Given the description of an element on the screen output the (x, y) to click on. 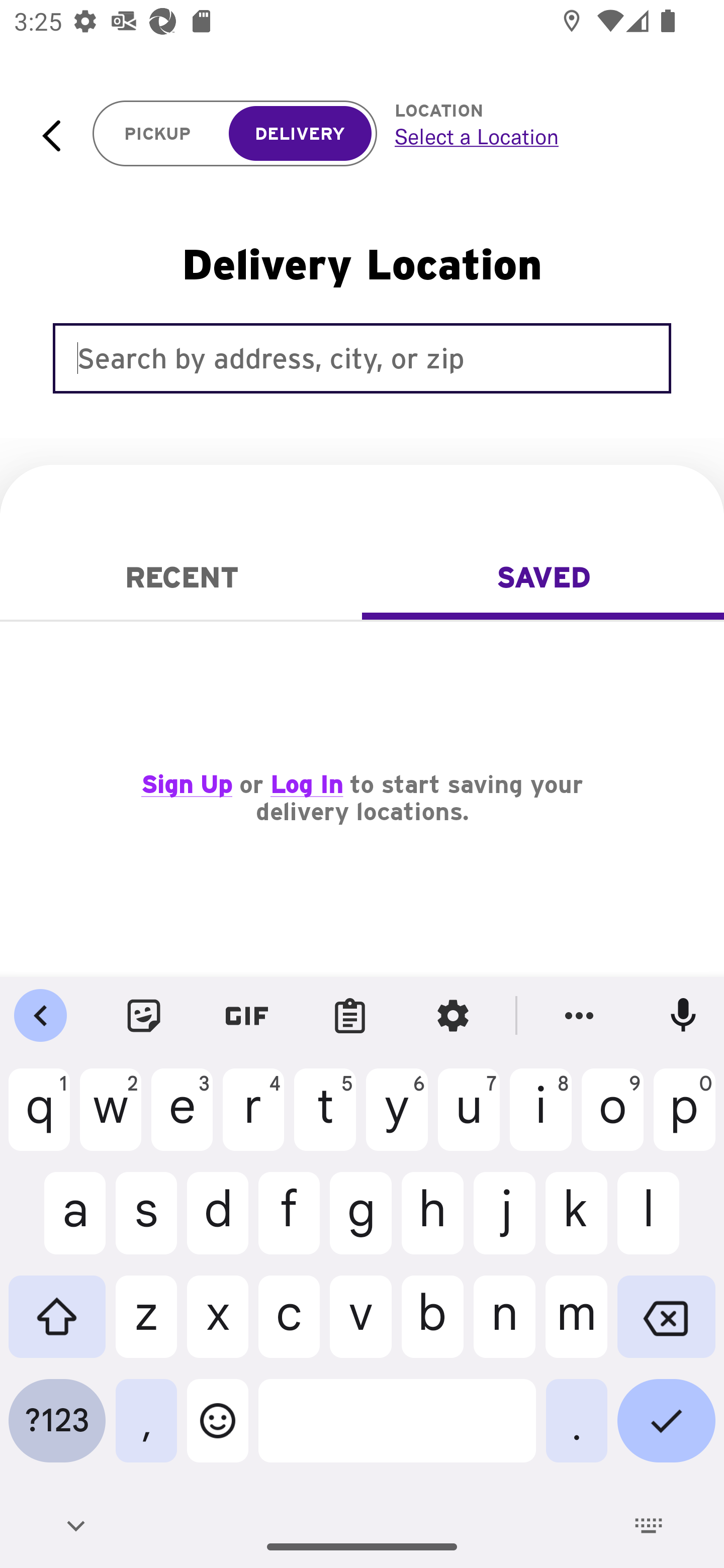
PICKUP (157, 133)
DELIVERY (299, 133)
Select a Location (536, 136)
Search by address, city, or zip (361, 358)
Recent RECENT (181, 576)
